Given the description of an element on the screen output the (x, y) to click on. 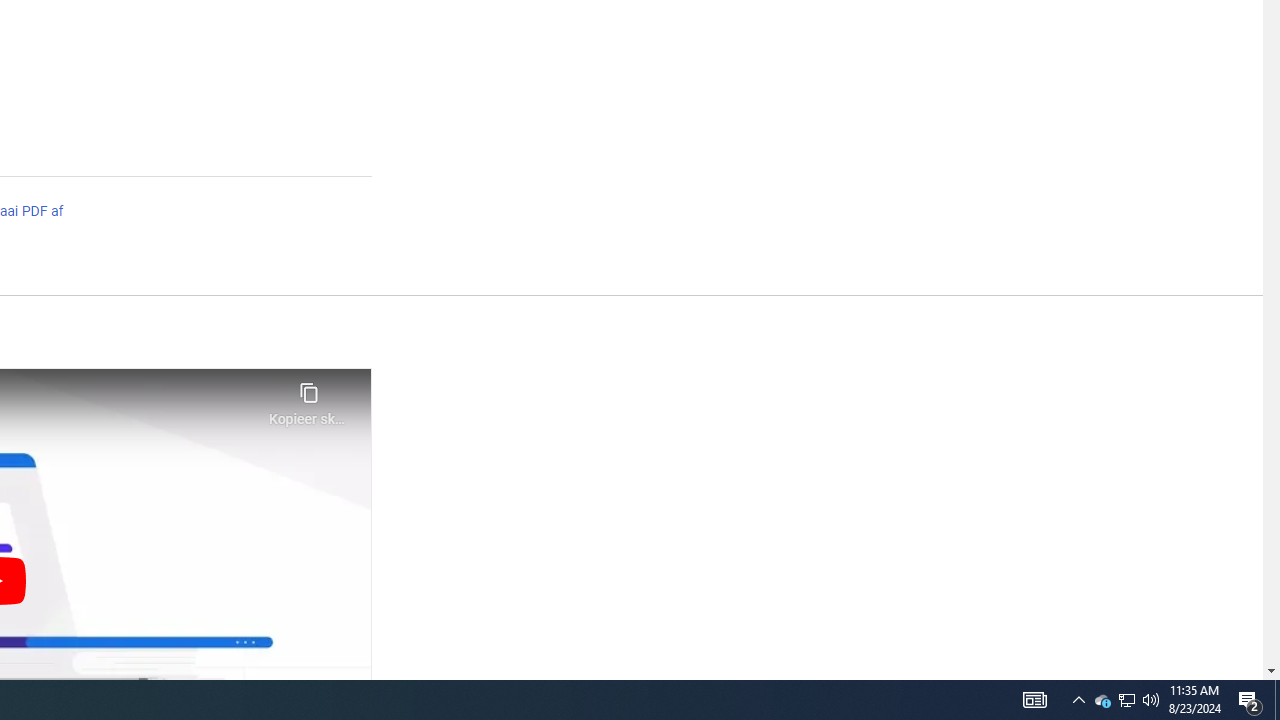
Kopieer skakel (308, 398)
